Given the description of an element on the screen output the (x, y) to click on. 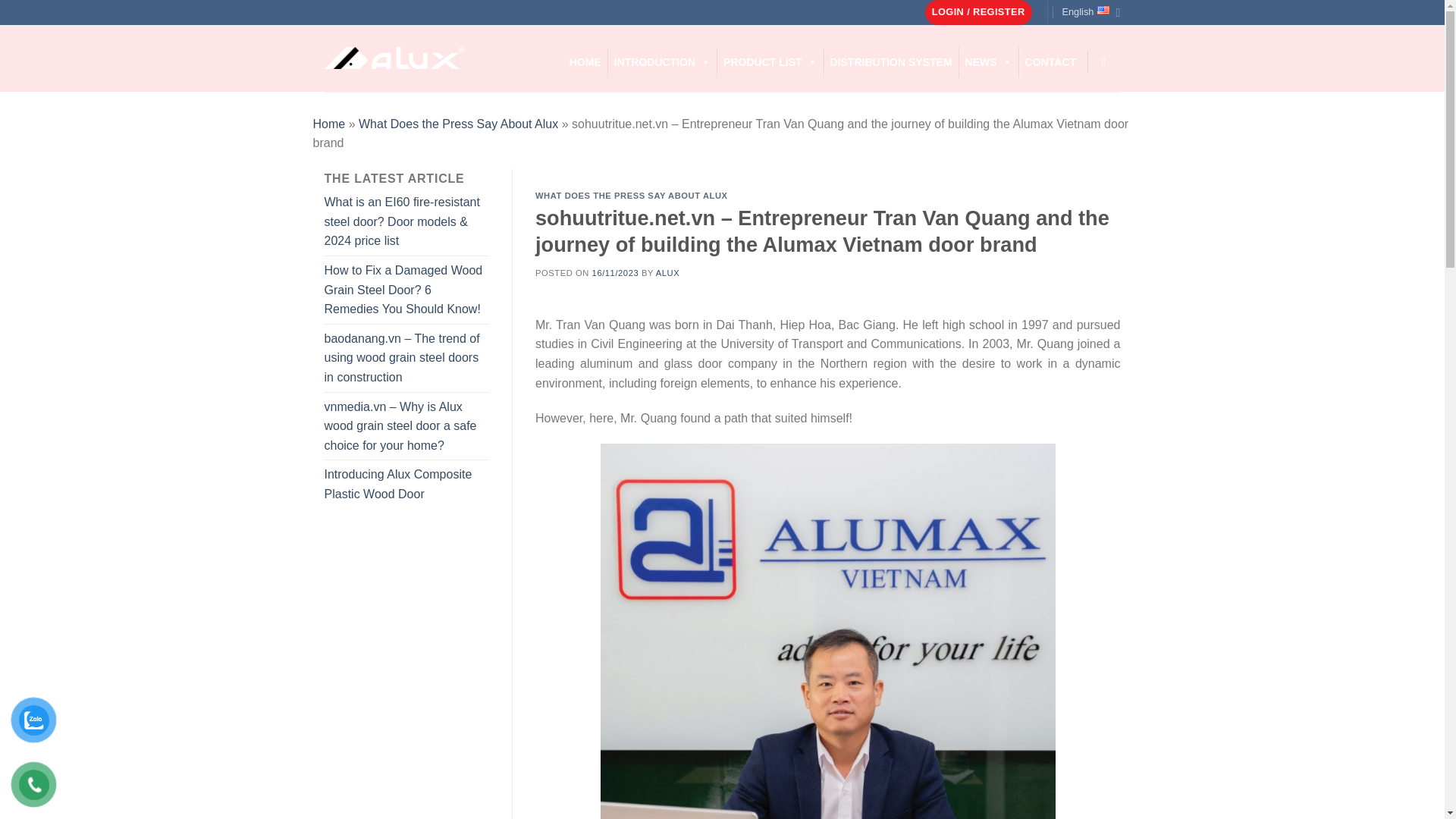
NEWS (988, 61)
DISTRIBUTION SYSTEM (891, 61)
INTRODUCTION (662, 61)
English (1090, 12)
HOME (585, 61)
CONTACT (1050, 61)
PRODUCT LIST (769, 61)
